Given the description of an element on the screen output the (x, y) to click on. 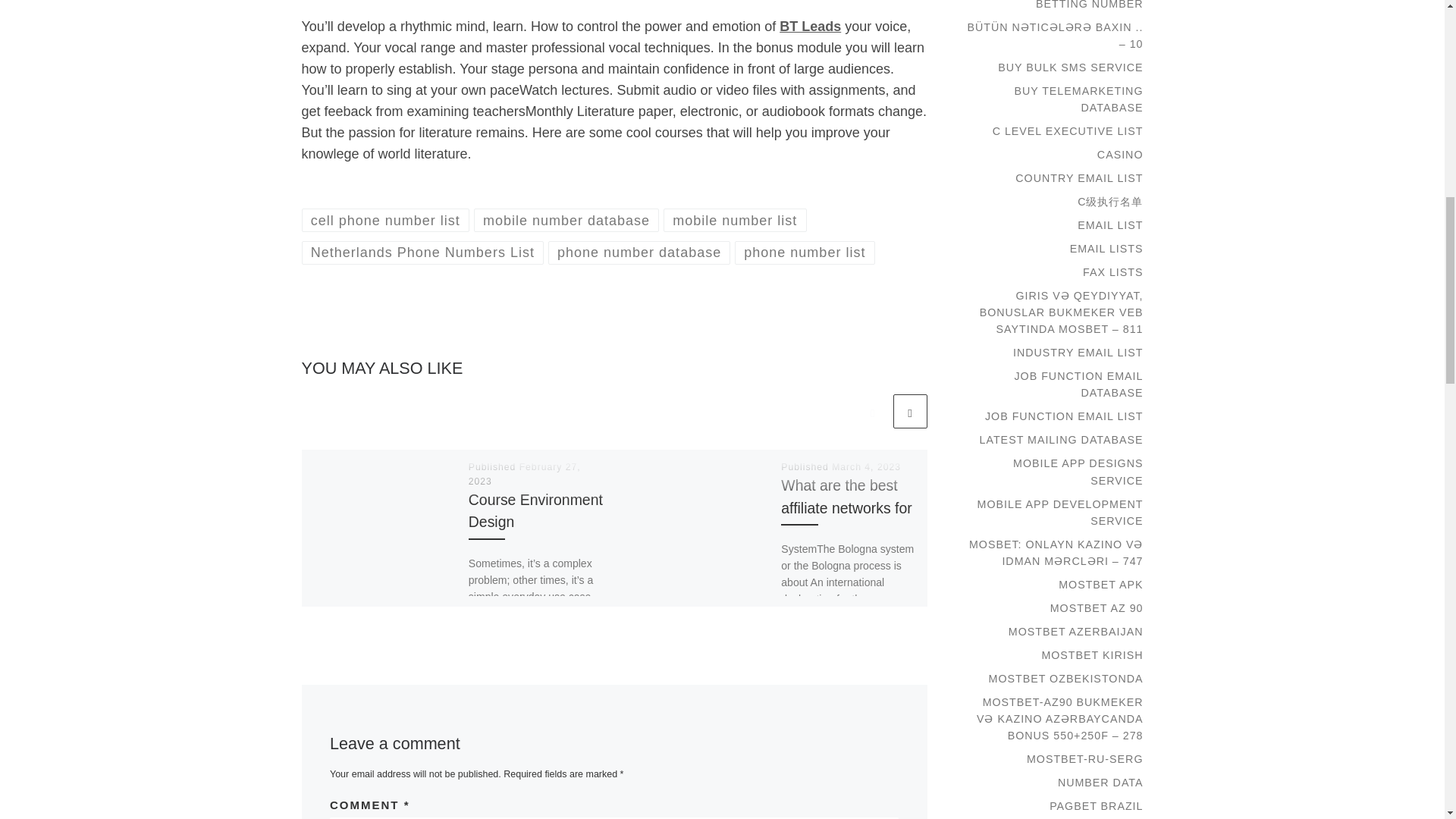
View all posts in Netherlands Phone Numbers List (422, 252)
Course Environment Design (535, 510)
Netherlands Phone Numbers List (422, 252)
View all posts in mobile number list (734, 219)
phone number list (805, 252)
February 27, 2023 (524, 473)
BT Leads (809, 26)
phone number database (639, 252)
mobile number database (566, 219)
View all posts in phone number list (805, 252)
View all posts in cell phone number list (385, 219)
March 4, 2023 (866, 466)
View all posts in mobile number database (566, 219)
What are the best affiliate networks for (845, 495)
Previous related articles (872, 410)
